Given the description of an element on the screen output the (x, y) to click on. 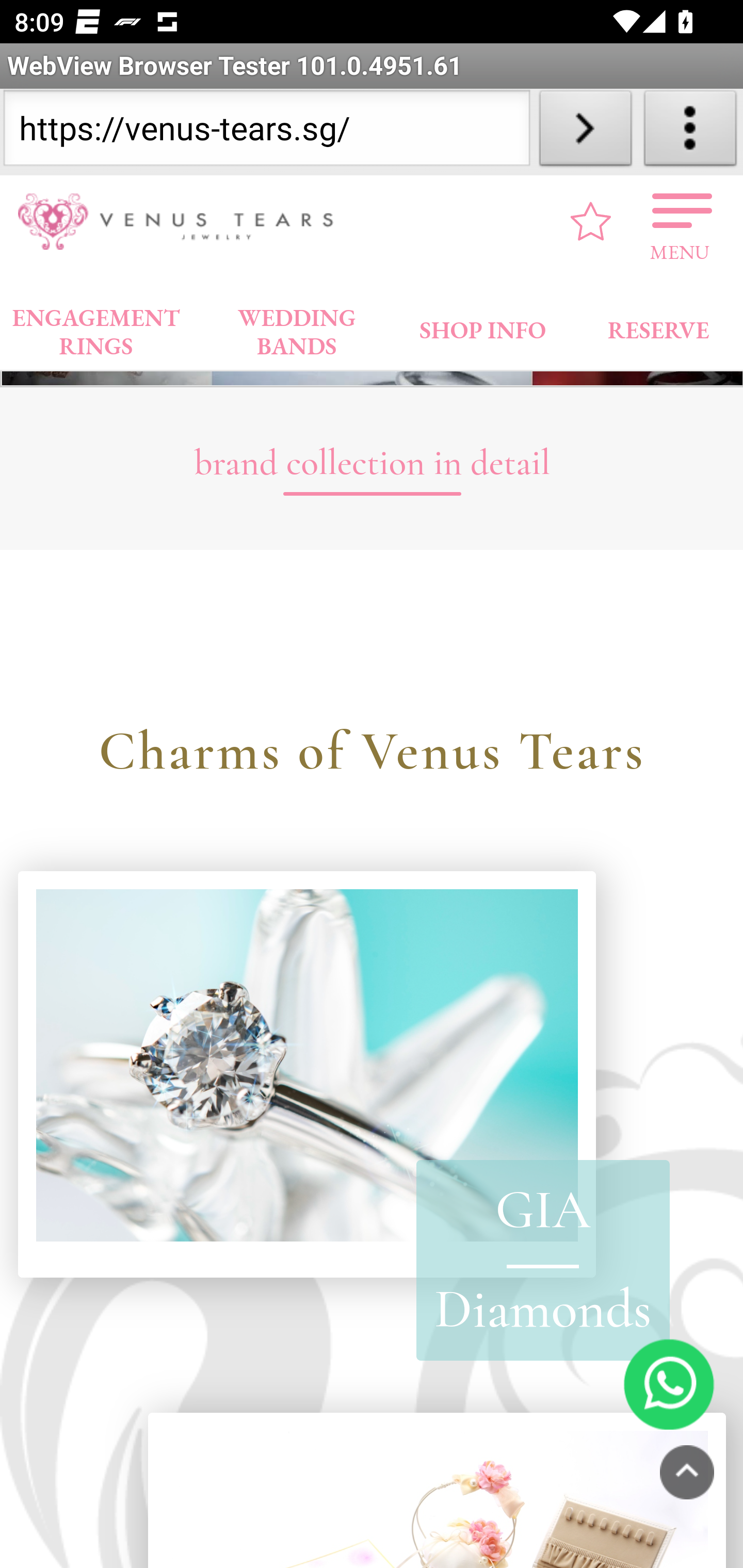
https://venus-tears.sg/ (266, 132)
Load URL (585, 132)
About WebView (690, 132)
favourite (591, 223)
MENU (680, 223)
VENUS TEARS (181, 222)
ENGAGEMENT RINGS ENGAGEMENT RINGS (96, 327)
WEDDING BANDS WEDDING BANDS (296, 327)
SHOP INFO (482, 325)
RESERVE (657, 325)
brand collection in detail (371, 477)
GIA Diamond (306, 1075)
GIA Diamonds GIA Diamonds (542, 1261)
6585184875 (668, 1385)
PAGETOP (686, 1473)
